Given the description of an element on the screen output the (x, y) to click on. 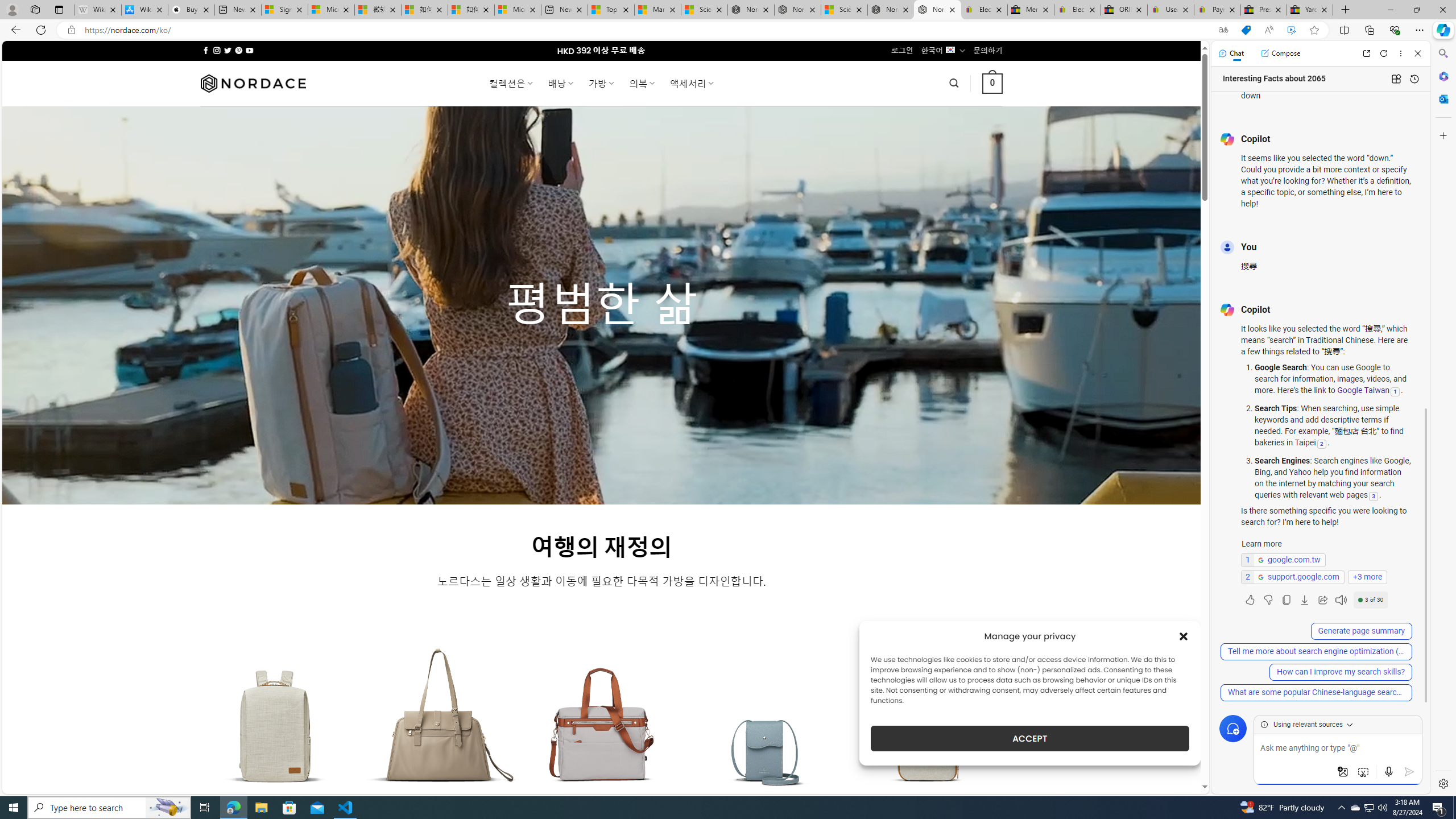
 0  (992, 83)
Close (1417, 53)
Class: cmplz-close (1183, 636)
Nordace - Summer Adventures 2024 (890, 9)
Buy iPad - Apple (191, 9)
Settings (1442, 783)
App bar (728, 29)
